Given the description of an element on the screen output the (x, y) to click on. 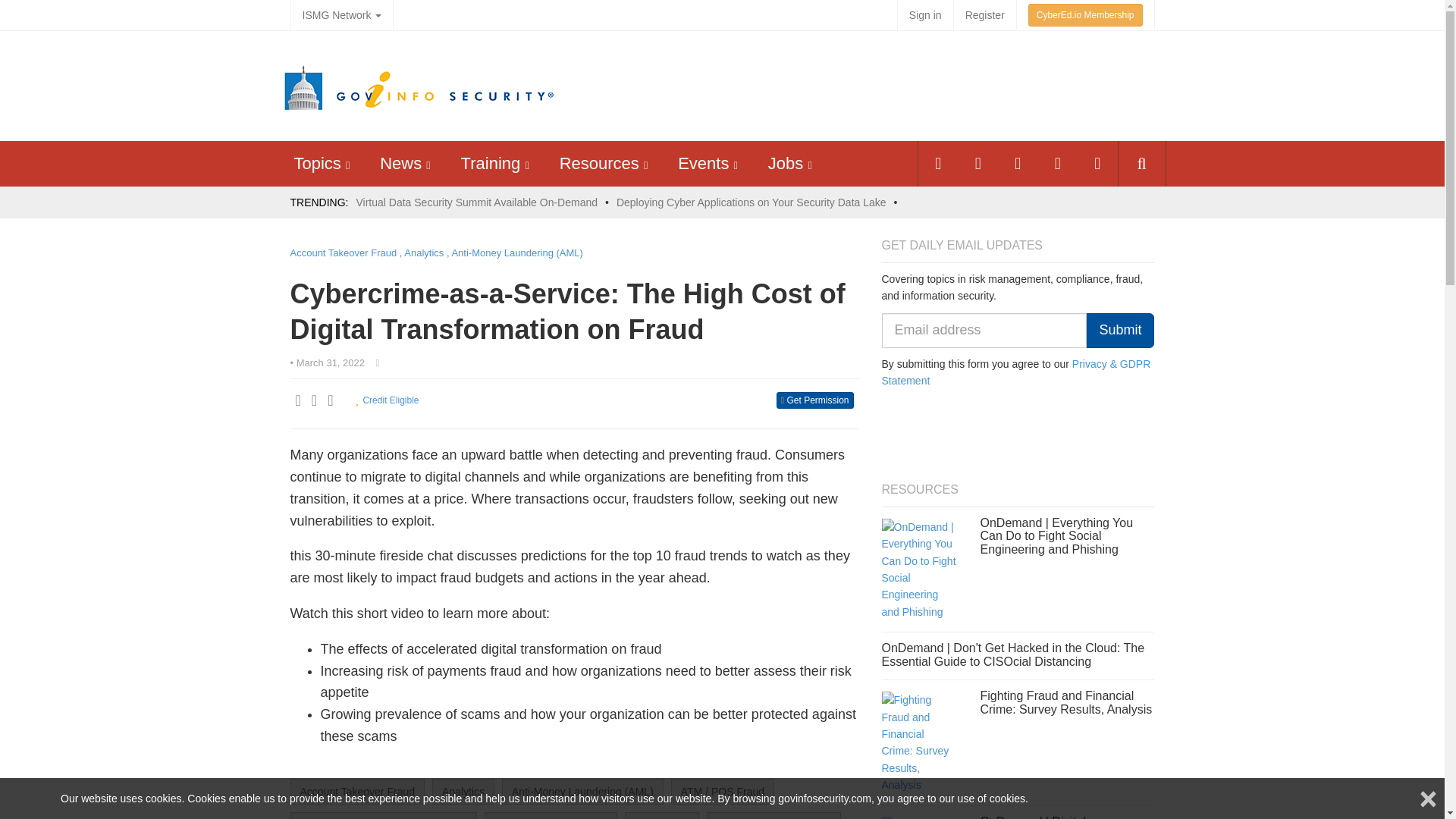
Topics (317, 162)
Register (984, 15)
Sign in (925, 15)
CyberEd.io Membership (1084, 15)
ISMG Network (341, 15)
